Given the description of an element on the screen output the (x, y) to click on. 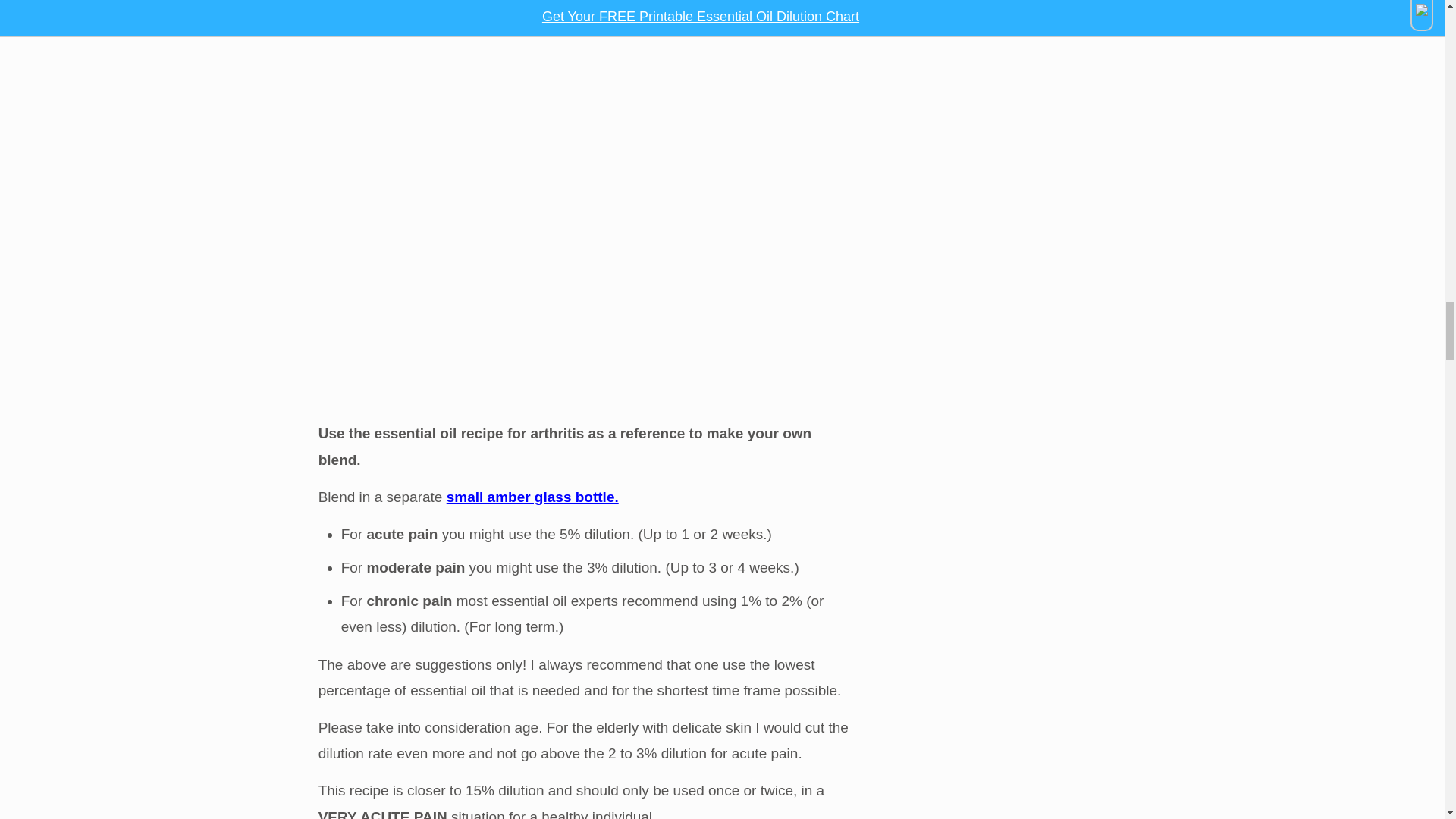
small amber glass bottle. (532, 496)
